Given the description of an element on the screen output the (x, y) to click on. 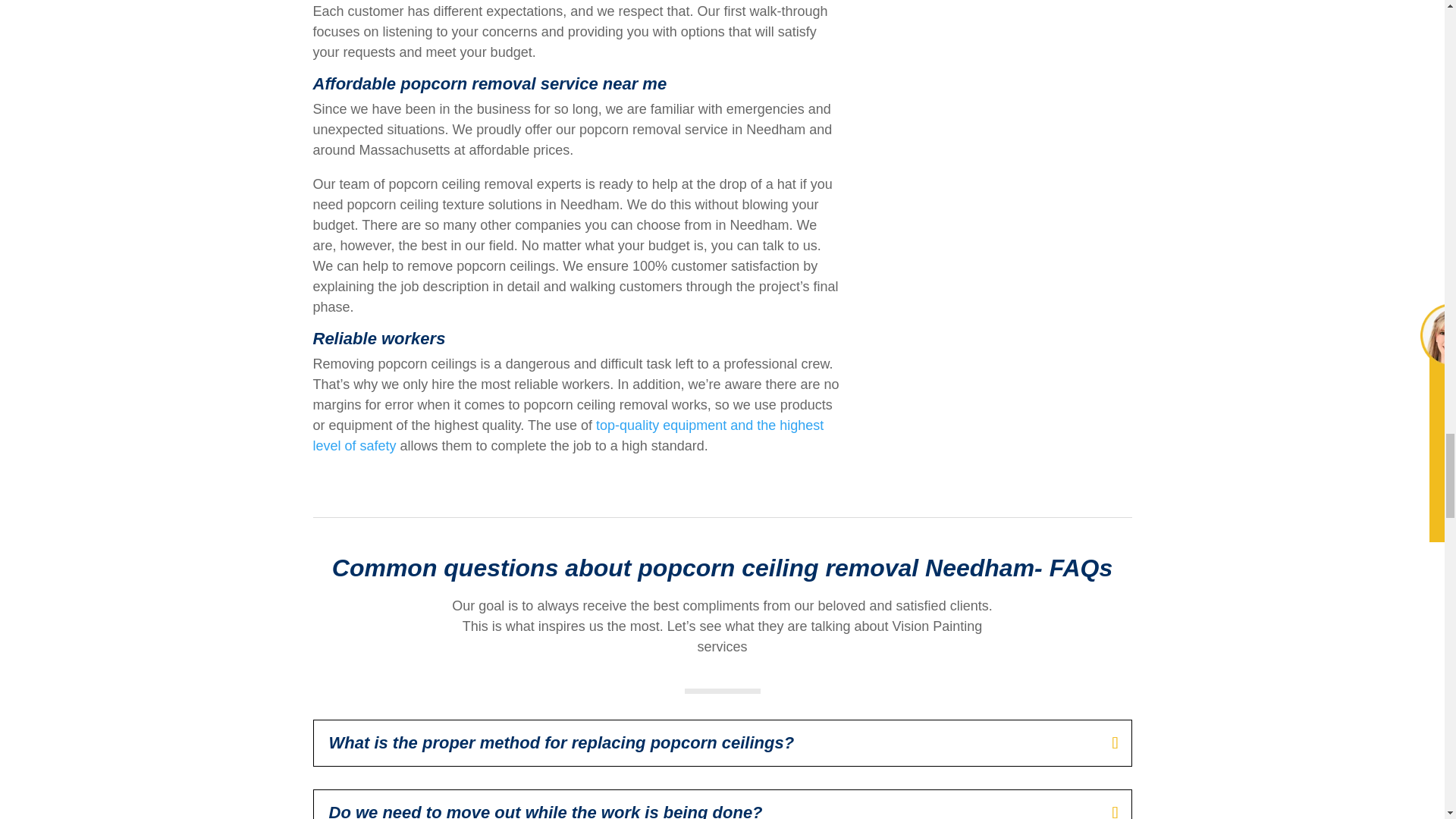
top-quality equipment and the highest level of safety (568, 435)
